Given the description of an element on the screen output the (x, y) to click on. 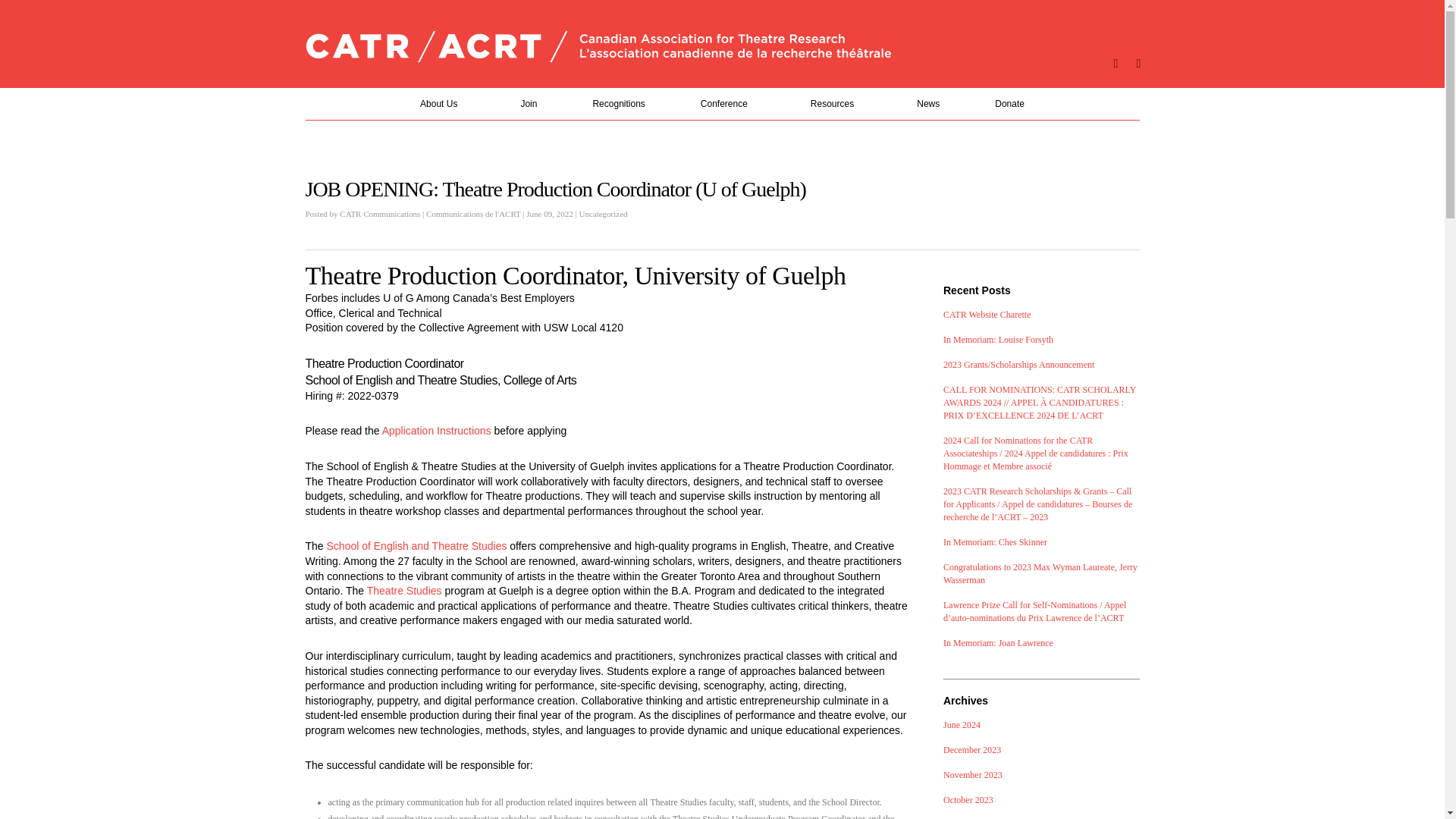
About Us (441, 103)
Resources (836, 103)
Recognitions (618, 103)
Join (528, 103)
Conference (727, 103)
EN (523, 38)
FR (535, 38)
News (927, 103)
